Given the description of an element on the screen output the (x, y) to click on. 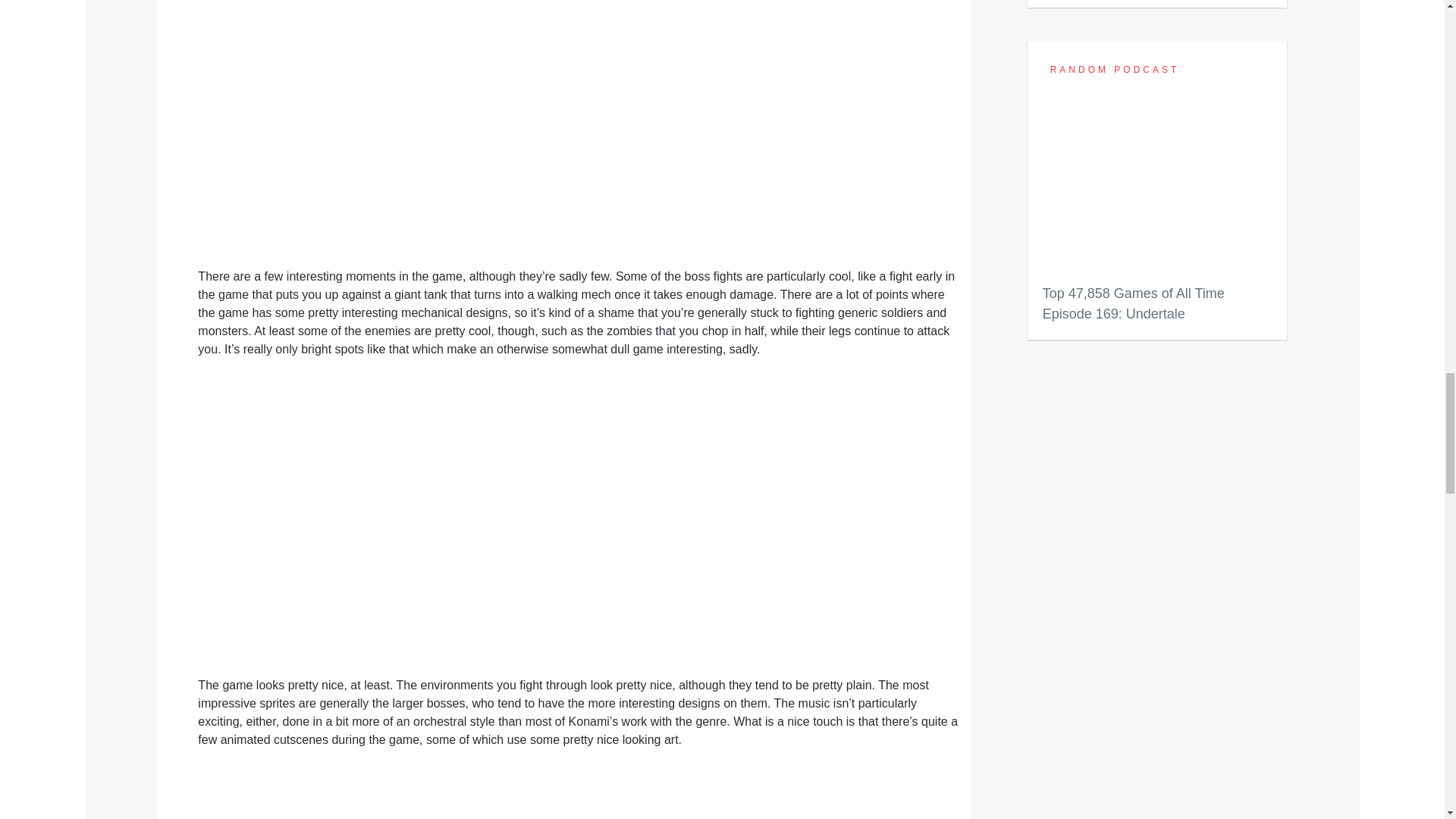
Sakura Wars 2 (1157, 3)
